Given the description of an element on the screen output the (x, y) to click on. 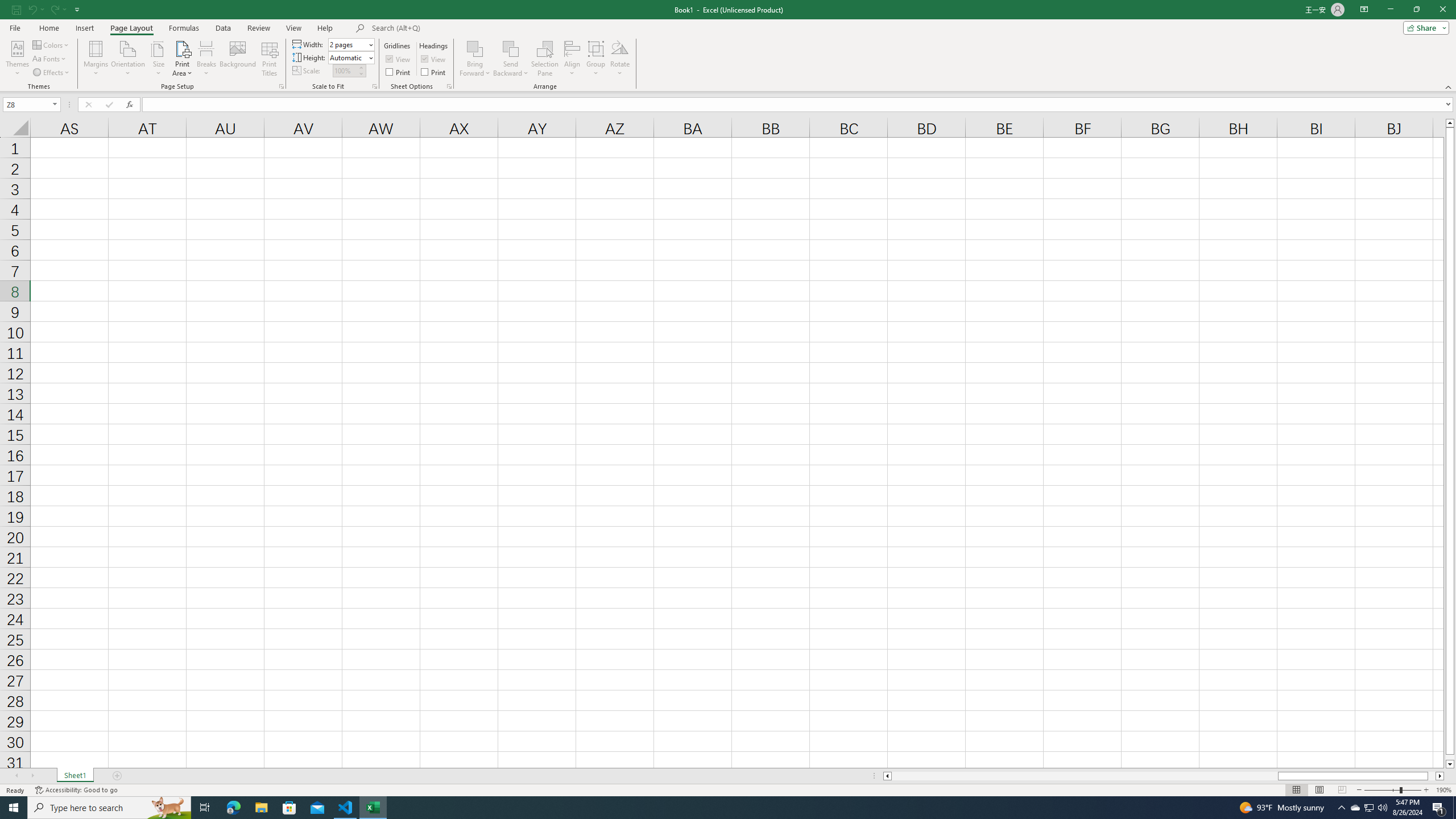
Scale (344, 70)
Breaks (206, 58)
Size (158, 58)
Width (350, 44)
Width (347, 44)
Page Setup (374, 85)
